Given the description of an element on the screen output the (x, y) to click on. 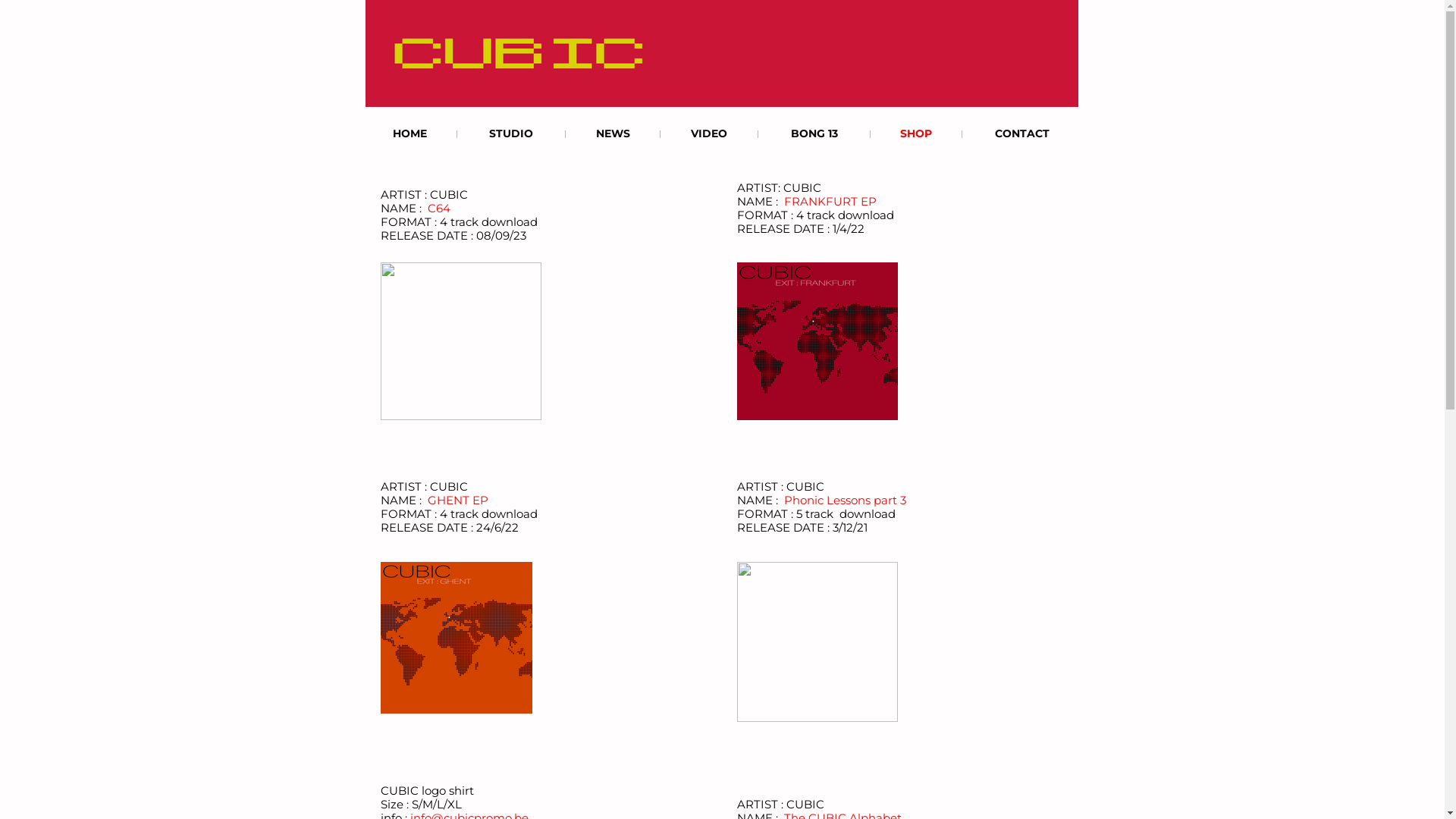
NEWS Element type: text (612, 133)
FRANKFURT EP Element type: text (830, 201)
Phonic Lessons part 3 Element type: text (845, 499)
BONG 13 Element type: text (813, 133)
HOME Element type: text (409, 133)
C64 Element type: text (438, 207)
STUDIO Element type: text (511, 133)
SHOP Element type: text (915, 133)
VIDEO Element type: text (708, 133)
CONTACT Element type: text (1021, 133)
GHENT EP Element type: text (457, 499)
